Given the description of an element on the screen output the (x, y) to click on. 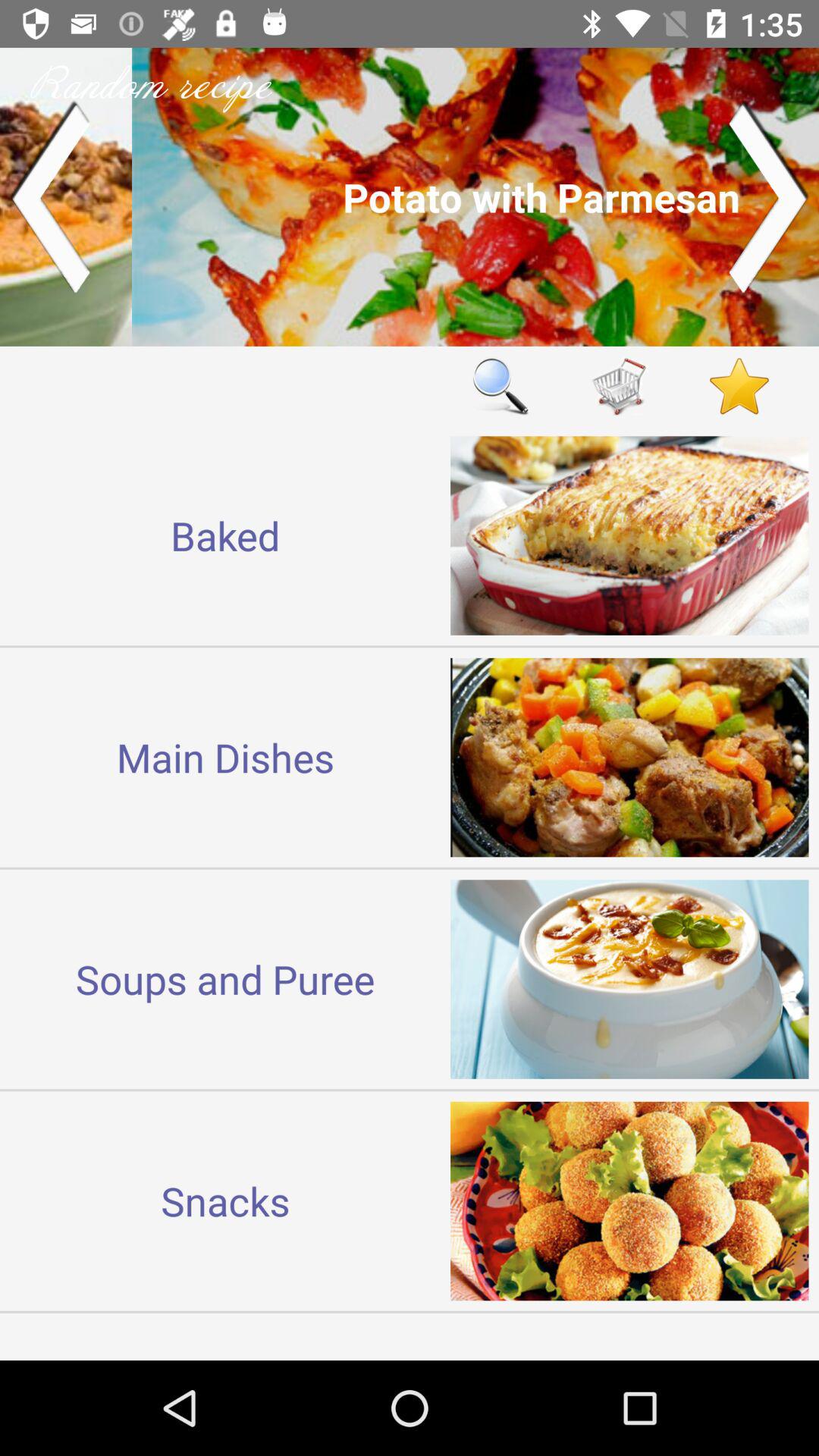
swipe to the main dishes (225, 756)
